Given the description of an element on the screen output the (x, y) to click on. 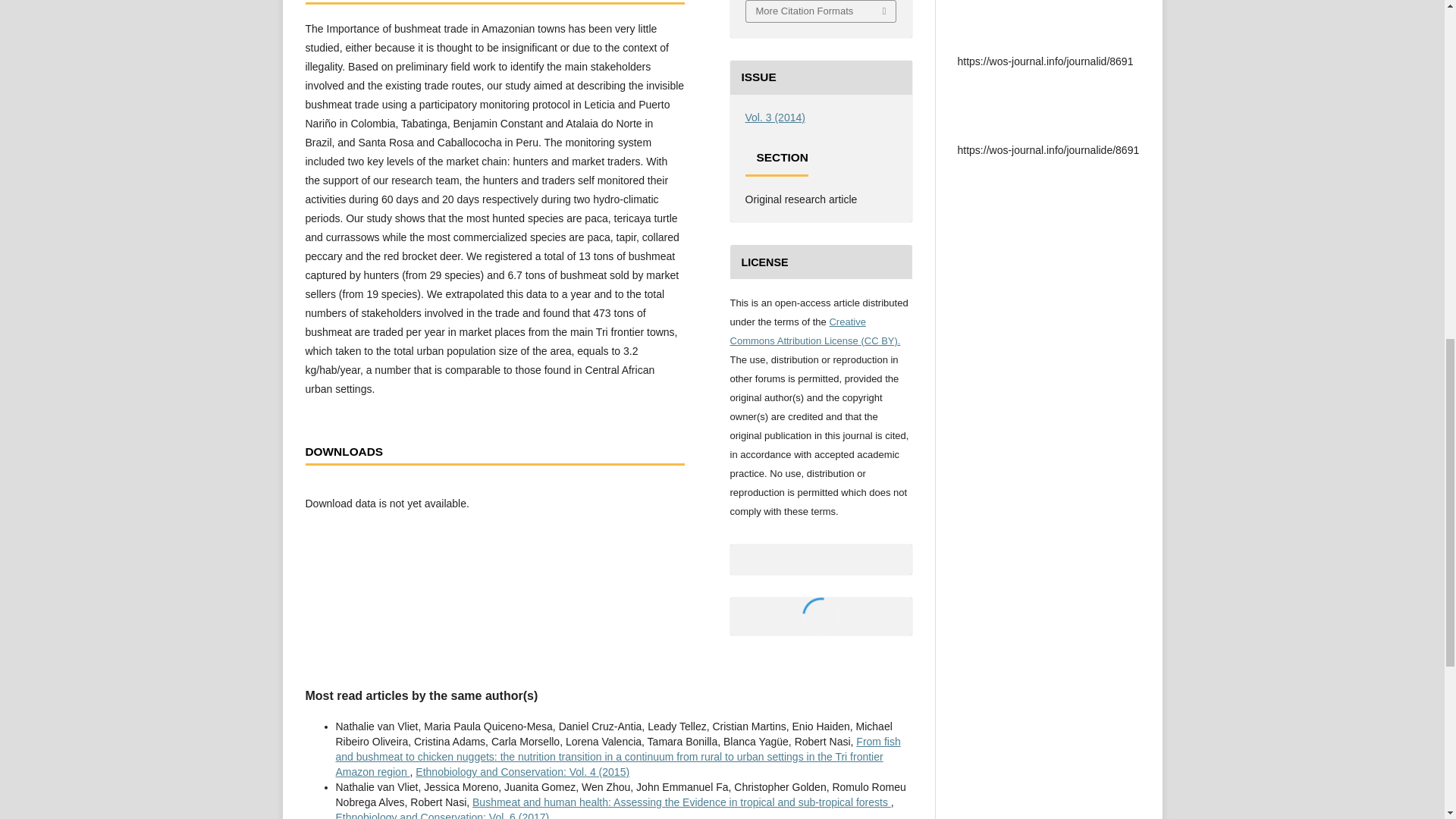
More Citation Formats (820, 10)
